Given the description of an element on the screen output the (x, y) to click on. 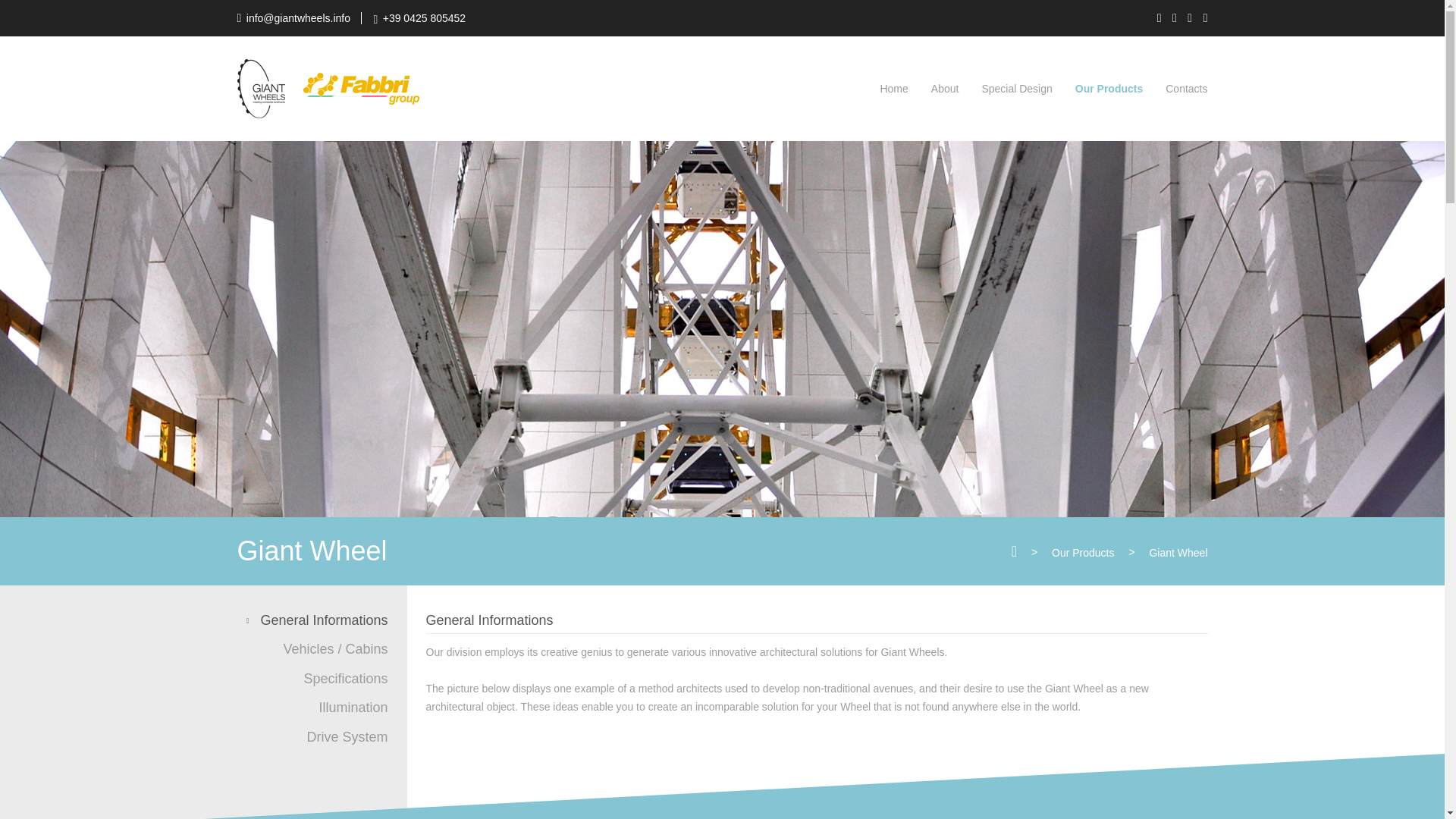
About (945, 88)
Our Products (1108, 88)
About Giant Wheels (945, 88)
Get in touch (1186, 88)
Giant Wheel (1177, 552)
Giant Wheels (259, 87)
Specifications (339, 678)
Contacts (1186, 88)
Our Products (1108, 88)
Special Design (1016, 88)
